Given the description of an element on the screen output the (x, y) to click on. 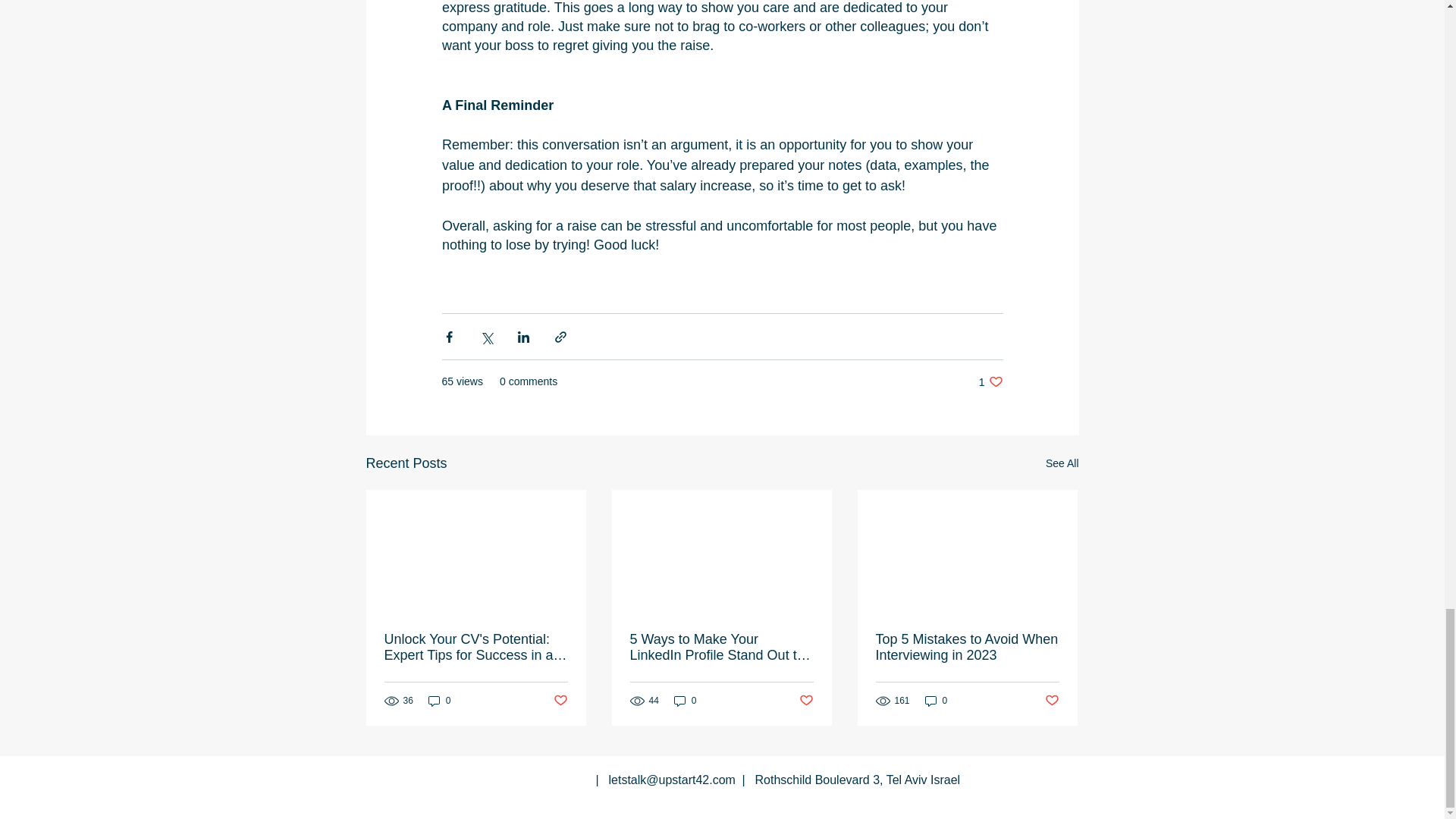
0 (936, 700)
5 Ways to Make Your LinkedIn Profile Stand Out to Recruiters (720, 647)
Top 5 Mistakes to Avoid When Interviewing in 2023 (966, 647)
Post not marked as liked (806, 700)
0 (439, 700)
Post not marked as liked (1052, 700)
See All (1061, 463)
0 (685, 700)
